Given the description of an element on the screen output the (x, y) to click on. 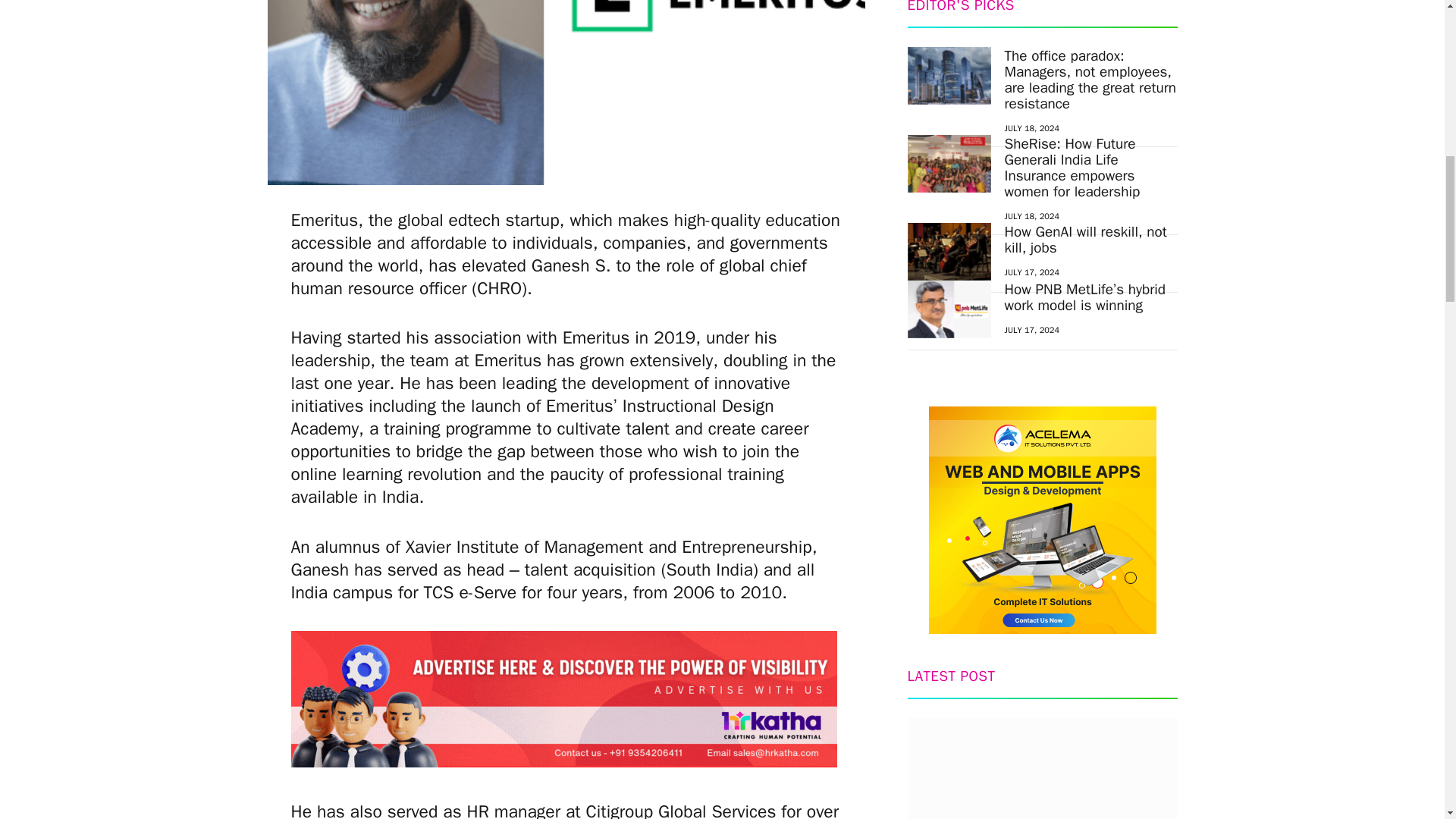
Ganesh S elevated to global CHRO position at Emeritus (565, 92)
